Given the description of an element on the screen output the (x, y) to click on. 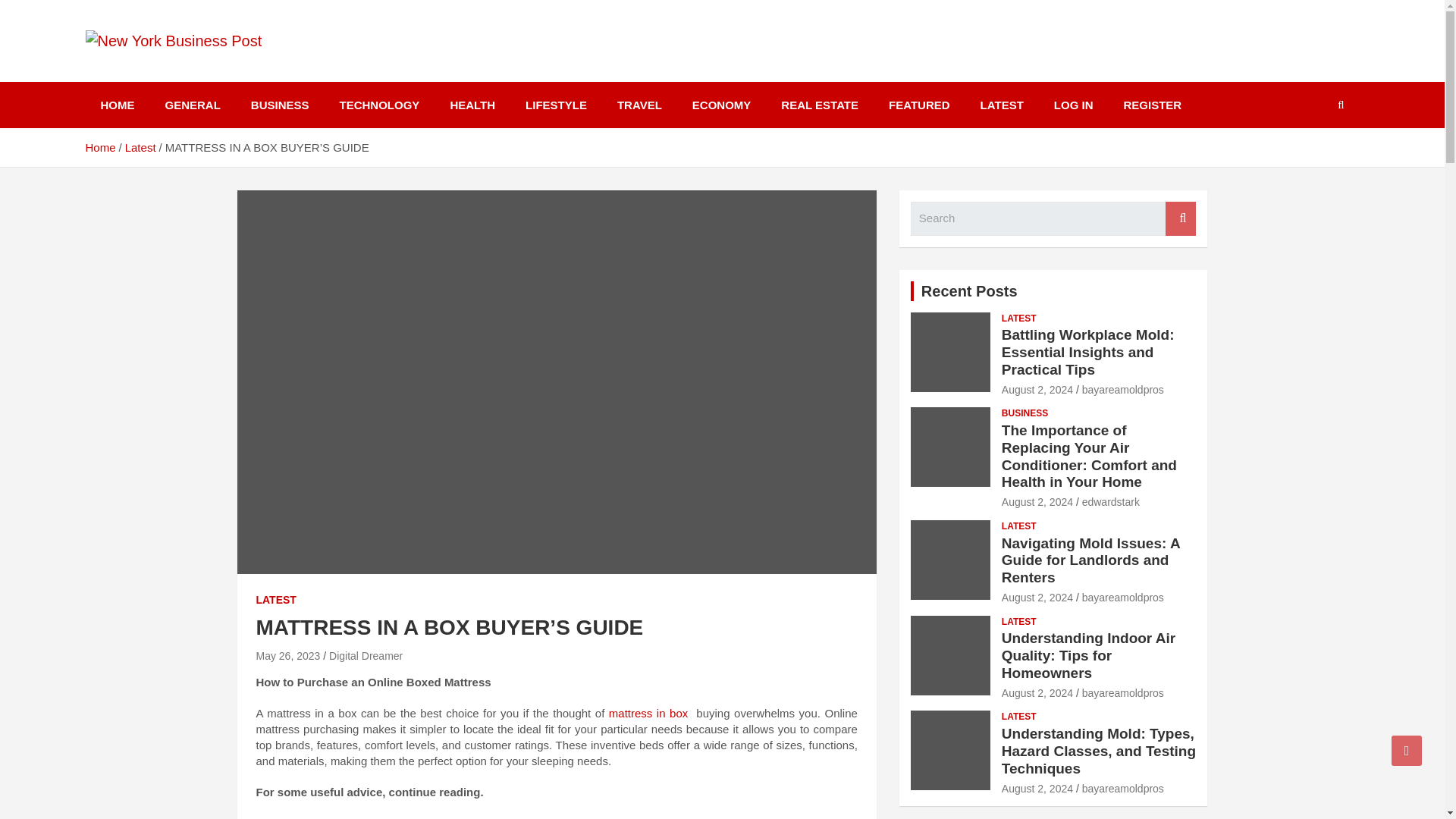
Digital Dreamer (366, 655)
GENERAL (192, 104)
HEALTH (472, 104)
Understanding Indoor Air Quality: Tips for Homeowners (1037, 693)
Navigating Mold Issues: A Guide for Landlords and Renters (1037, 597)
FEATURED (919, 104)
TECHNOLOGY (379, 104)
Search (1180, 218)
Home (99, 146)
ECONOMY (722, 104)
bayareamoldpros (1122, 389)
LATEST (276, 600)
HOME (116, 104)
